Given the description of an element on the screen output the (x, y) to click on. 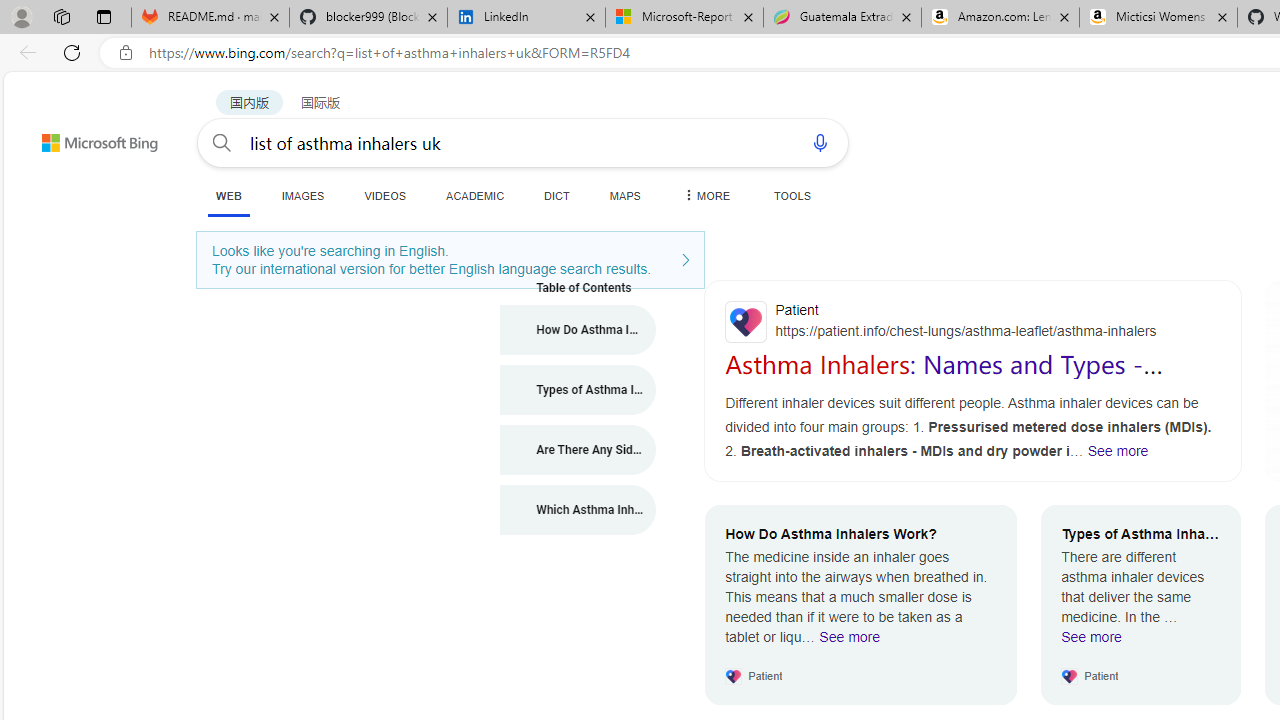
ACADEMIC (475, 195)
Asthma Inhalers: Names and Types - Patient (943, 378)
WEB (228, 196)
Which Asthma Inhaler Device Should I use? (578, 509)
MAPS (624, 195)
Search button (221, 142)
